Given the description of an element on the screen output the (x, y) to click on. 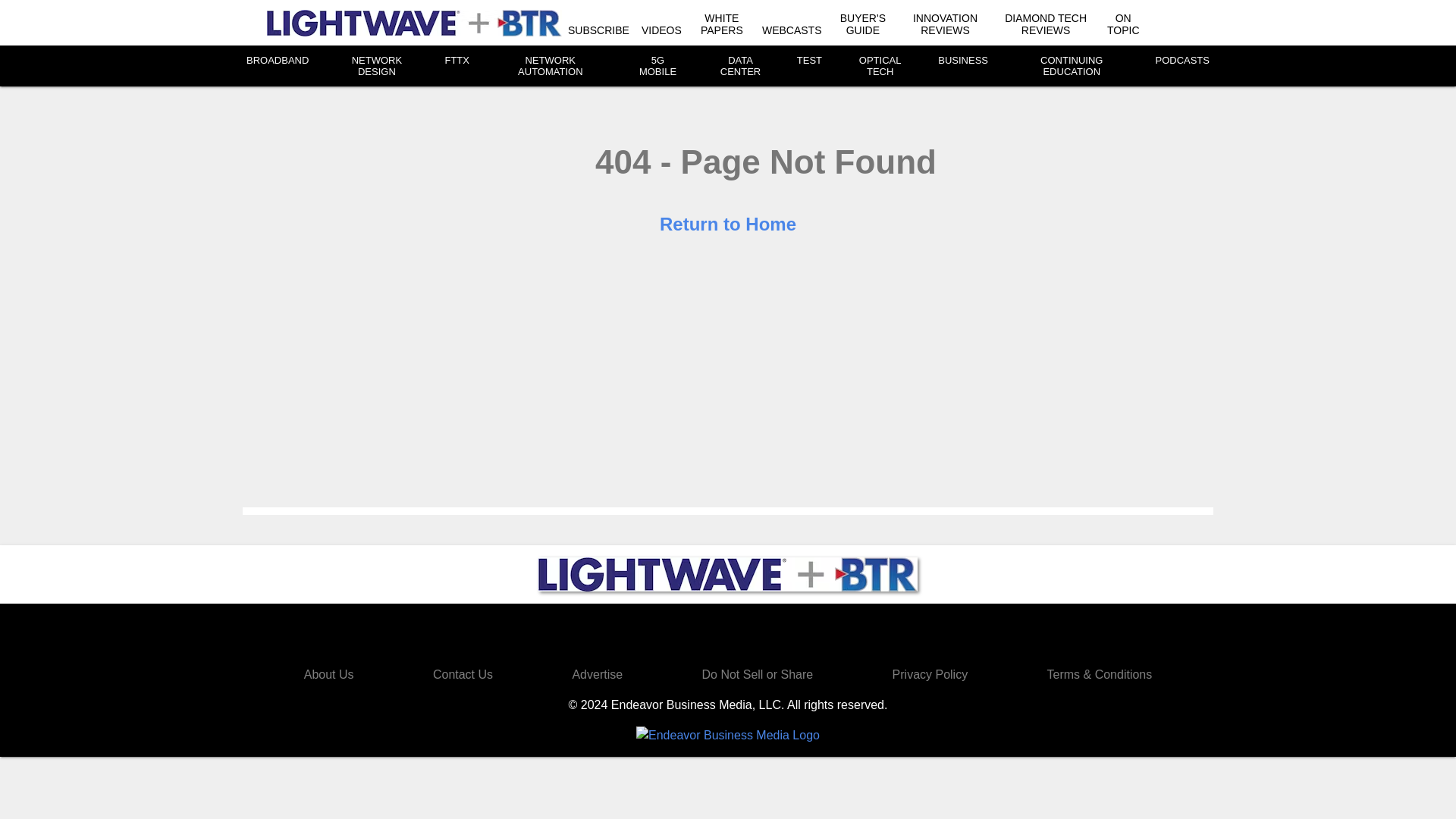
DIAMOND TECH REVIEWS (1045, 24)
5G MOBILE (658, 65)
Advertise (597, 674)
INNOVATION REVIEWS (944, 24)
OPTICAL TECH (880, 65)
BUSINESS (962, 60)
ON TOPIC (1123, 24)
FTTX (456, 60)
TEST (809, 60)
SUBSCRIBE (597, 30)
